Given the description of an element on the screen output the (x, y) to click on. 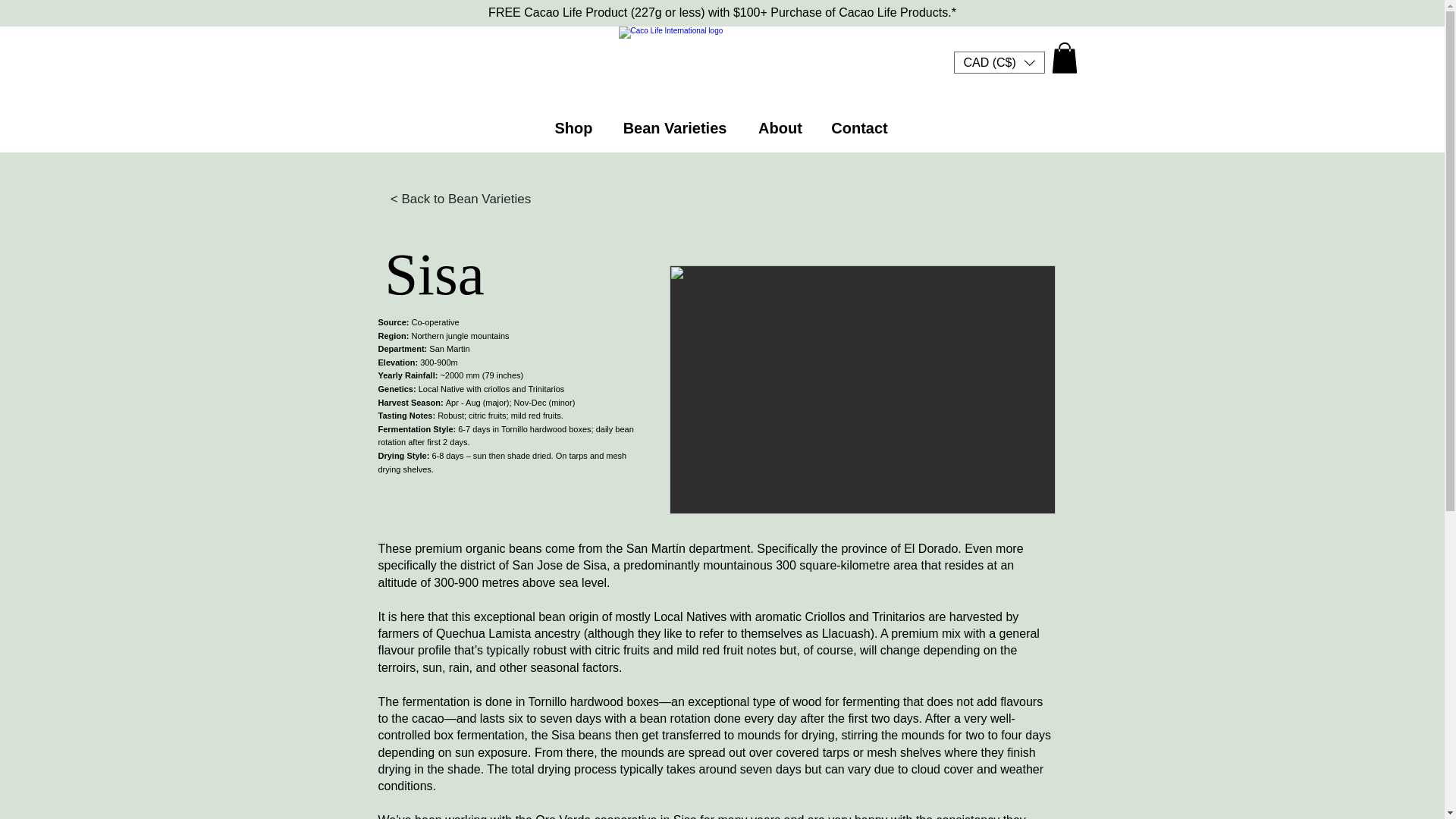
Shop (573, 128)
Contact (858, 128)
About (780, 128)
Bean Varieties (674, 128)
